Given the description of an element on the screen output the (x, y) to click on. 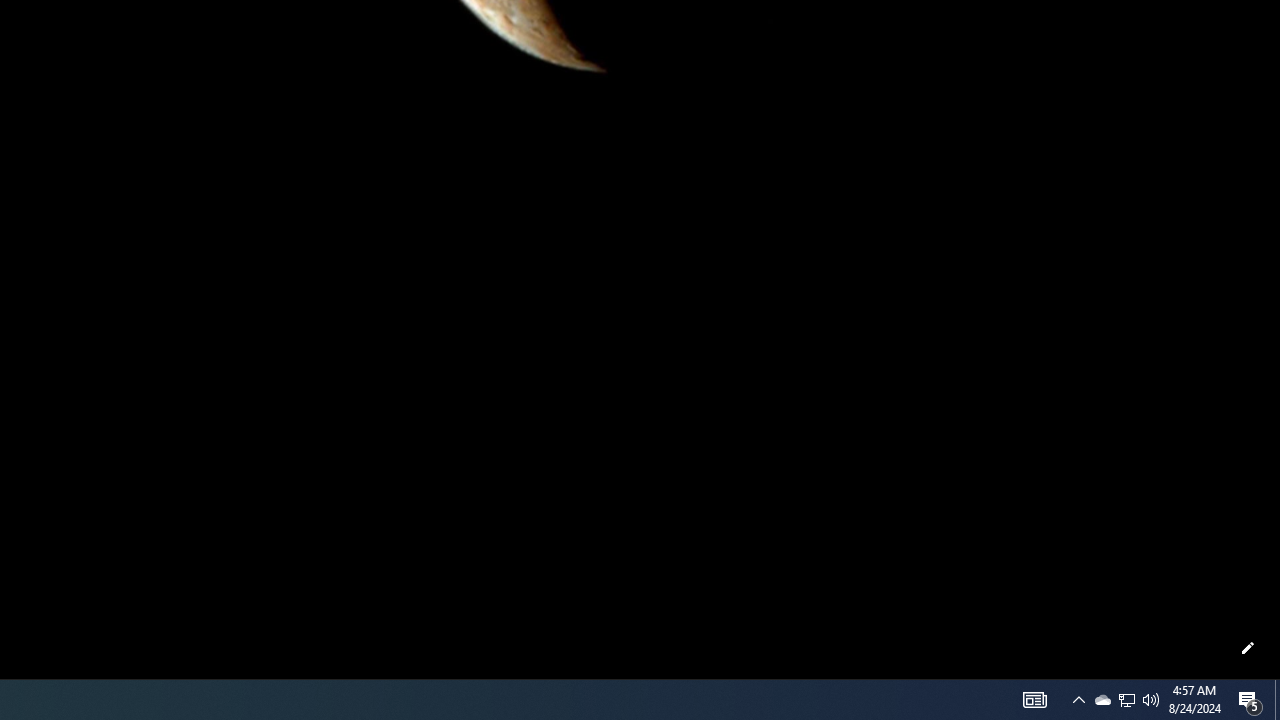
Customize this page (1247, 647)
